Given the description of an element on the screen output the (x, y) to click on. 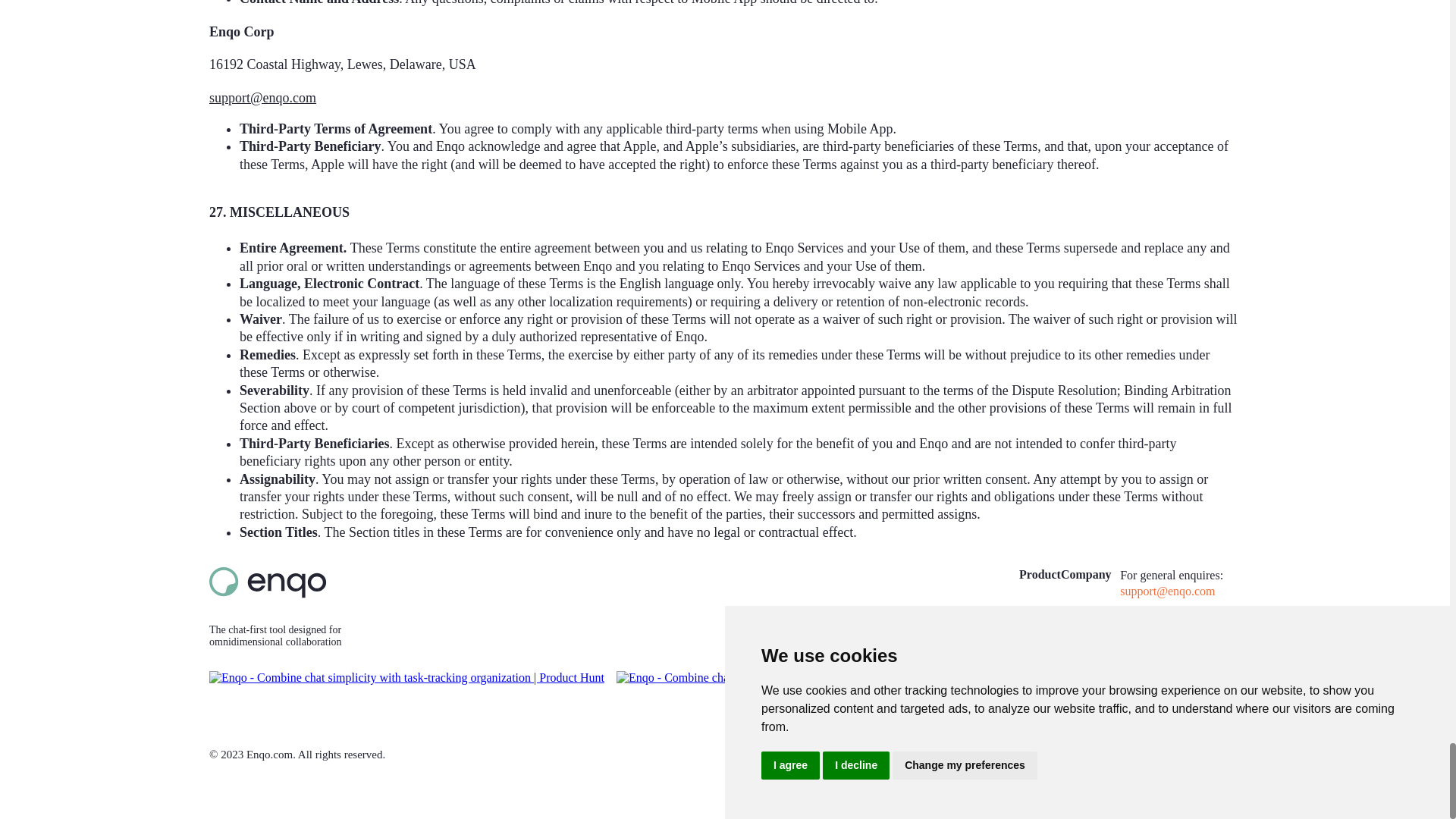
Use cases (1032, 618)
Pricing (1036, 675)
Try for free (1179, 652)
Legal (1074, 649)
Features (1039, 649)
Contact Sales Team (1088, 618)
